Given the description of an element on the screen output the (x, y) to click on. 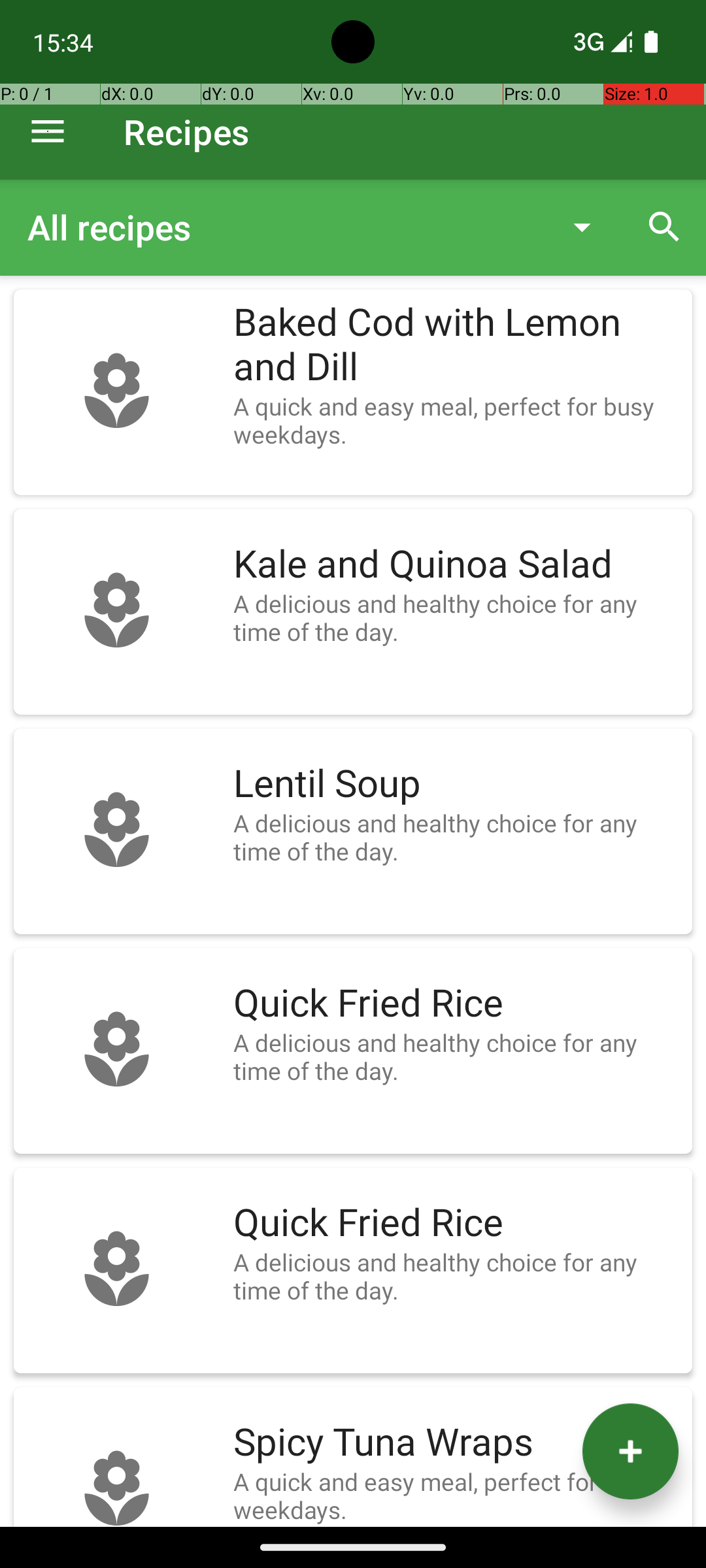
Spicy Tuna Wraps Element type: android.widget.TextView (455, 1442)
